Given the description of an element on the screen output the (x, y) to click on. 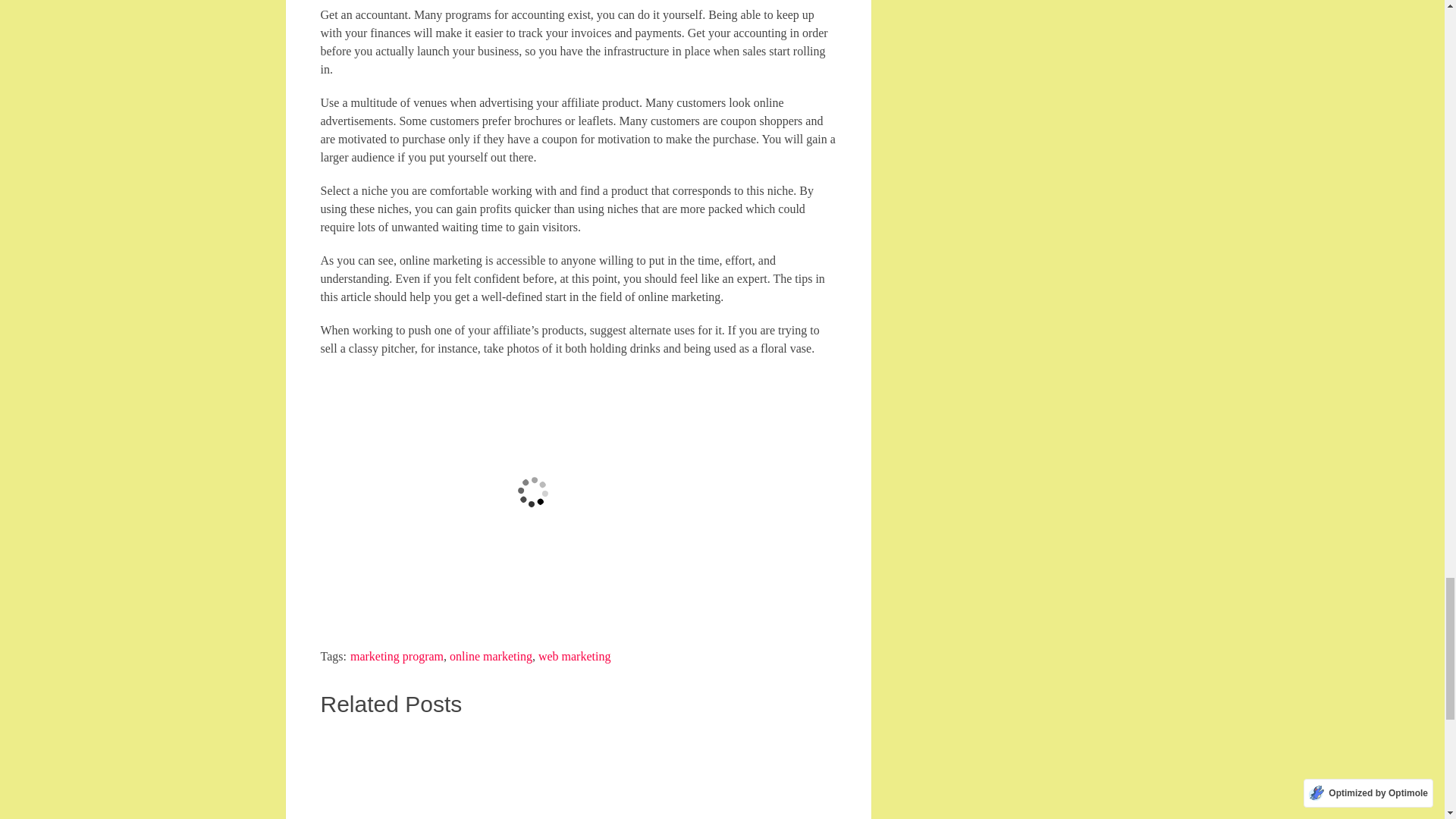
Easy Tricks Anyone Can Master In Online Business (756, 774)
online marketing (490, 656)
marketing program (397, 656)
web marketing (574, 656)
